Given the description of an element on the screen output the (x, y) to click on. 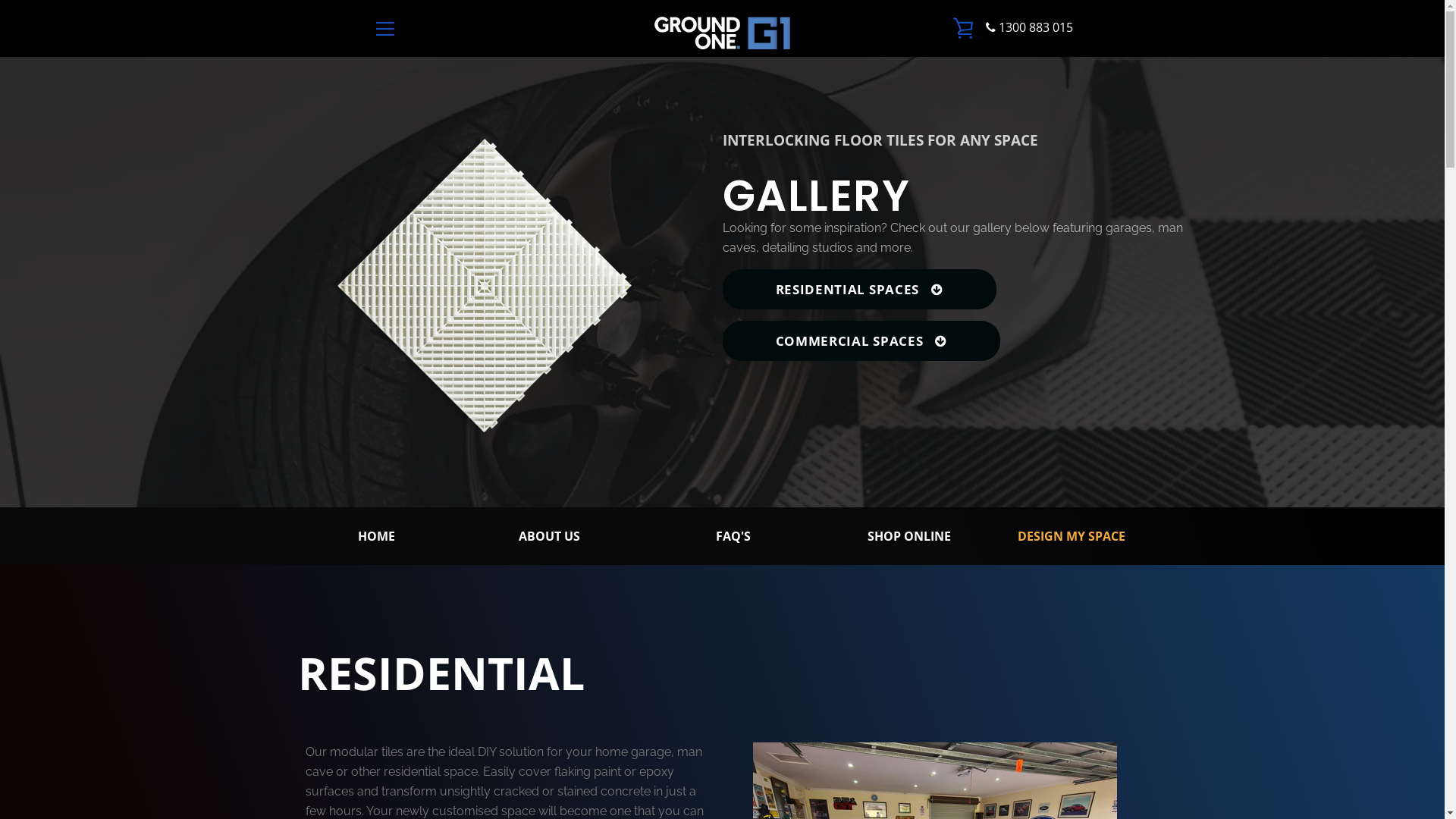
SHOP Element type: text (387, 503)
GARAGE FLOOR TILES MELBOURNE Element type: text (615, 631)
PRIVACY POLICY Element type: text (415, 592)
MENU Element type: text (384, 28)
Powered by Shopify Element type: text (794, 766)
GARAGE FLOOR TILES BRISBANE Element type: text (615, 667)
CONTACT Element type: text (397, 526)
SHIPPING & RETURNS Element type: text (429, 548)
Skip to content Element type: text (0, 0)
Facebook Element type: text (372, 765)
1300 883 015 Element type: text (1029, 26)
GRIDPRO XL CORNER Element type: text (614, 495)
ABOUT US Element type: text (549, 535)
SHOP ONLINE Element type: text (908, 535)
RESIDENTIAL SPACES Element type: text (858, 289)
COMMERCIAL SPACES Element type: text (860, 340)
HOME Element type: text (376, 535)
TERMS & CONDITIONS Element type: text (430, 570)
DESIGN MY SPACE Element type: text (1071, 535)
DIAMONDPRO EDGE Element type: text (611, 600)
ABOUT Element type: text (390, 481)
Ground One Element type: text (716, 766)
DIAMONDPRO MODULAR FLOOR TILE Element type: text (623, 549)
DIAMONDPRO CORNER Element type: text (619, 577)
1300 883 015 Element type: text (907, 633)
GRIDPRO XL MODULAR FLOOR TILE Element type: text (618, 467)
VIEW CART Element type: text (963, 28)
Instagram Element type: text (398, 765)
HOME Element type: text (388, 459)
SUBSCRIBE Element type: text (1031, 528)
GRIDPRO XL EDGE Element type: text (606, 518)
GARAGE FLOOR TILES SYDNEY Element type: text (636, 697)
FAQ'S Element type: text (732, 535)
